Given the description of an element on the screen output the (x, y) to click on. 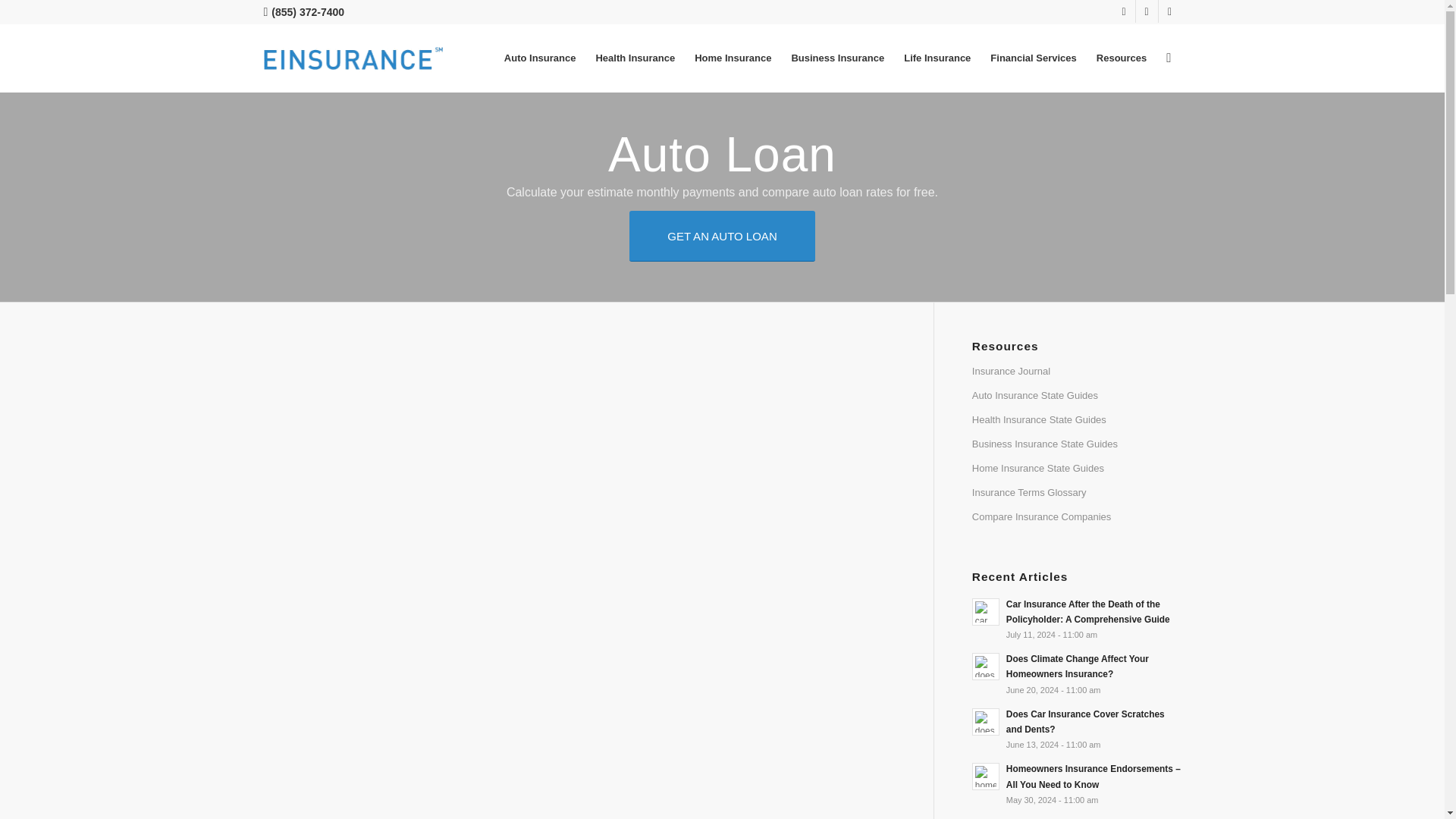
Does Climate Change Affect Your Homeowners Insurance? (1076, 673)
Auto Insurance (540, 58)
Youtube (1169, 11)
Twitter (1124, 11)
Does Car Insurance Cover Scratches and Dents? (1076, 728)
Facebook (1146, 11)
Health Insurance (634, 58)
